Given the description of an element on the screen output the (x, y) to click on. 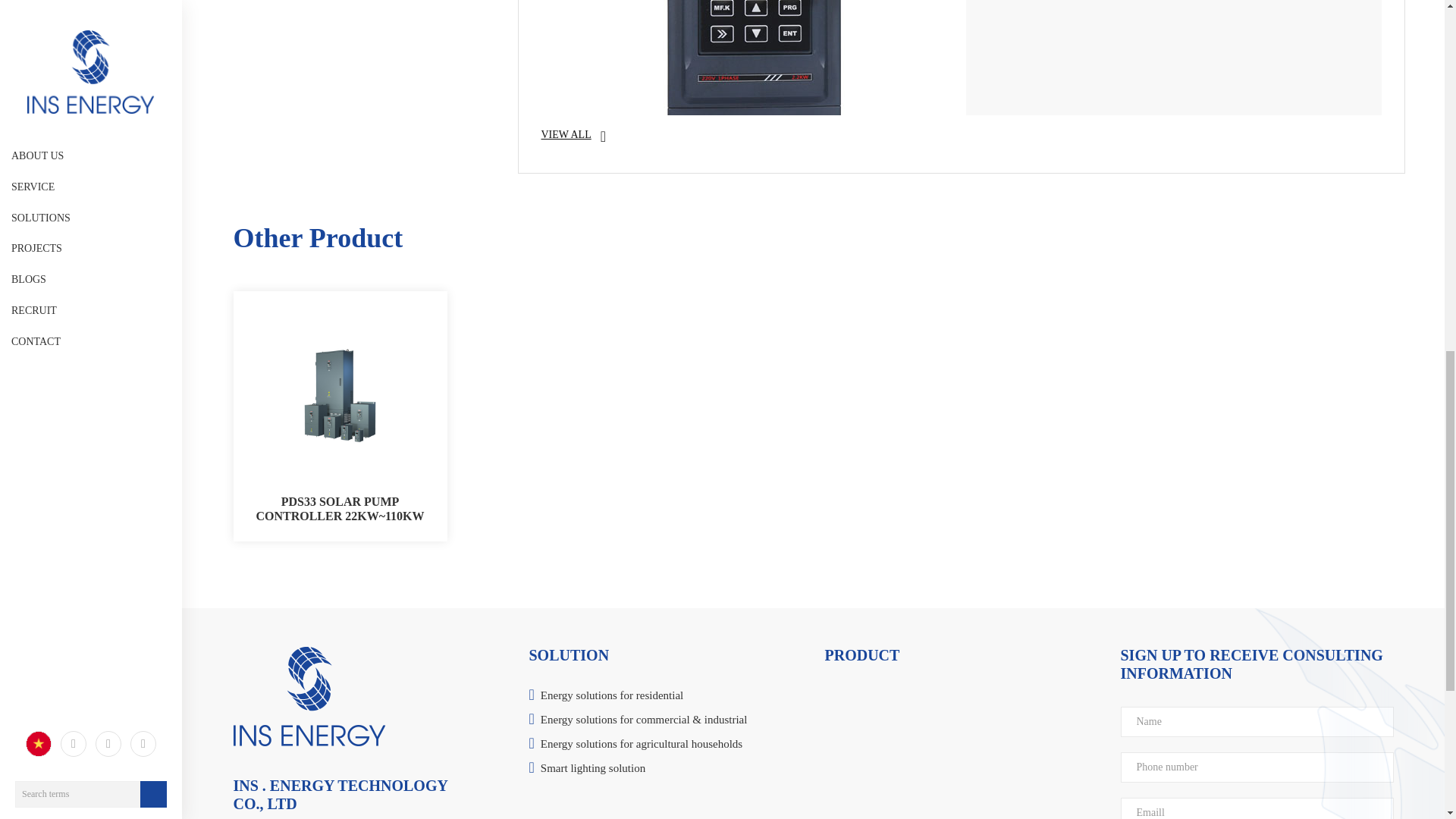
Energy solutions for agricultural households (670, 744)
Energy solutions for residential (670, 695)
Smart lighting solution (670, 768)
Energy solutions for residential (670, 695)
